Given the description of an element on the screen output the (x, y) to click on. 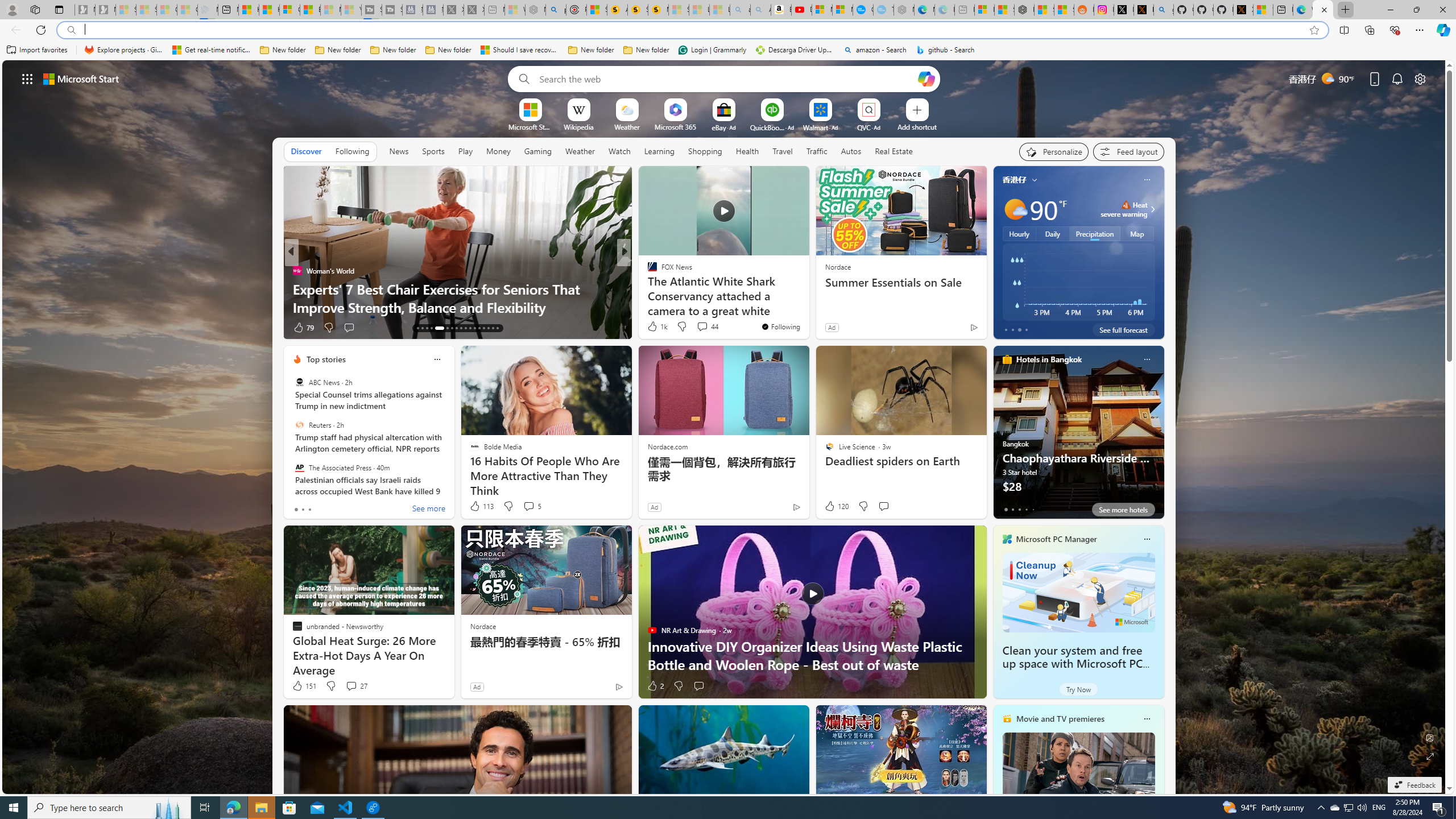
Daily (1052, 233)
39 Like (652, 327)
Welcome to Microsoft Edge (1302, 9)
Amazon Echo Dot PNG - Search Images - Sleeping (760, 9)
Nordace - Duffels (1024, 9)
Microsoft Start - Sleeping (330, 9)
Address and search bar (692, 29)
Watch (619, 151)
tab-2 (1019, 509)
Forge of Empires (668, 288)
The Kanso (647, 270)
See more (428, 509)
Gaming (537, 151)
